Given the description of an element on the screen output the (x, y) to click on. 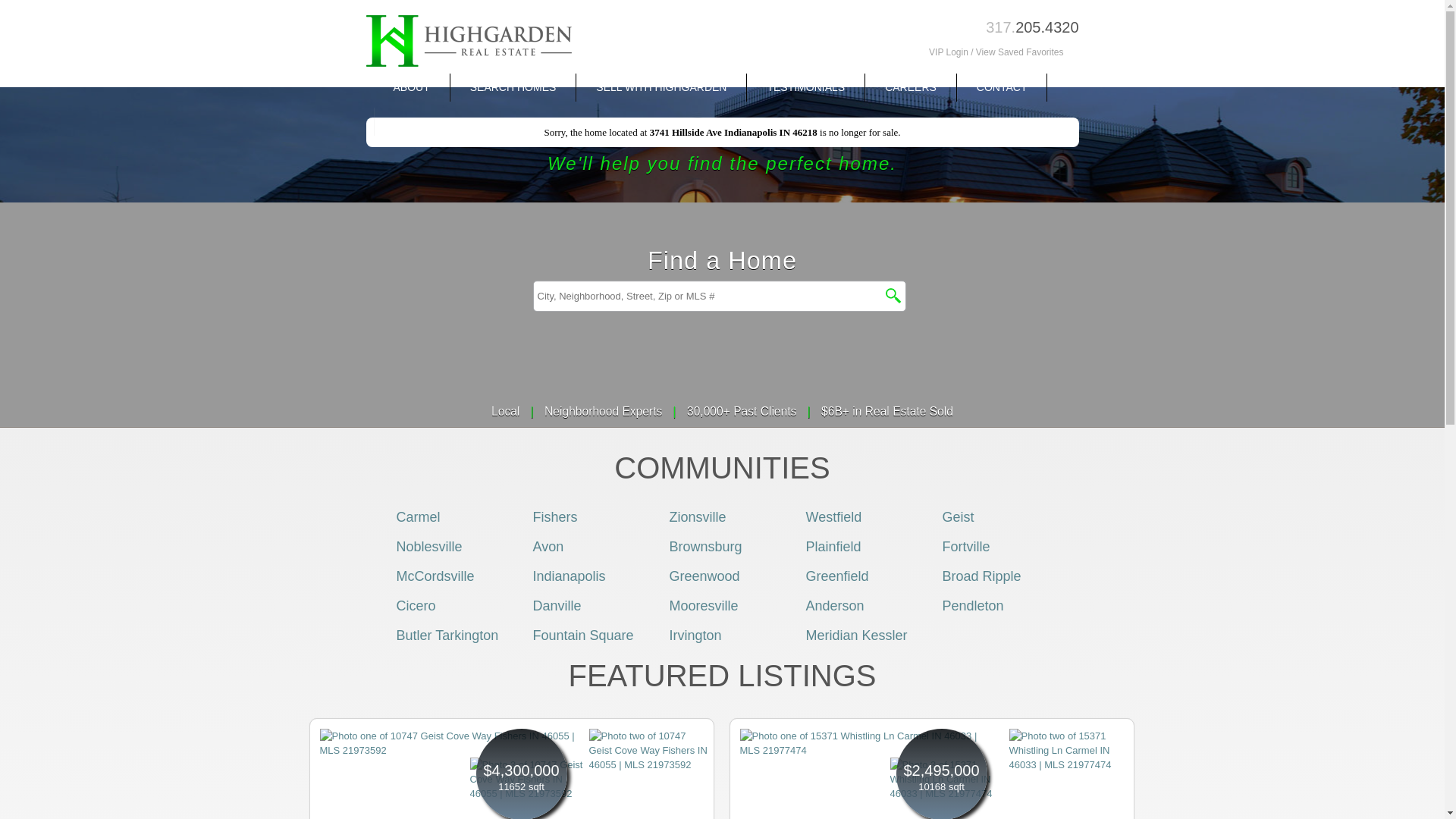
Butler Tarkington (446, 635)
Indianapolis (568, 575)
Noblesville (428, 546)
Fountain Square (582, 635)
SEARCH HOMES (512, 87)
Sell with Highgarden (661, 87)
View Indianapolis, IN homes for sale. (568, 575)
Search Homes (512, 87)
MORTGAGES (426, 121)
View Avon, IN homes for sale. (547, 546)
